Given the description of an element on the screen output the (x, y) to click on. 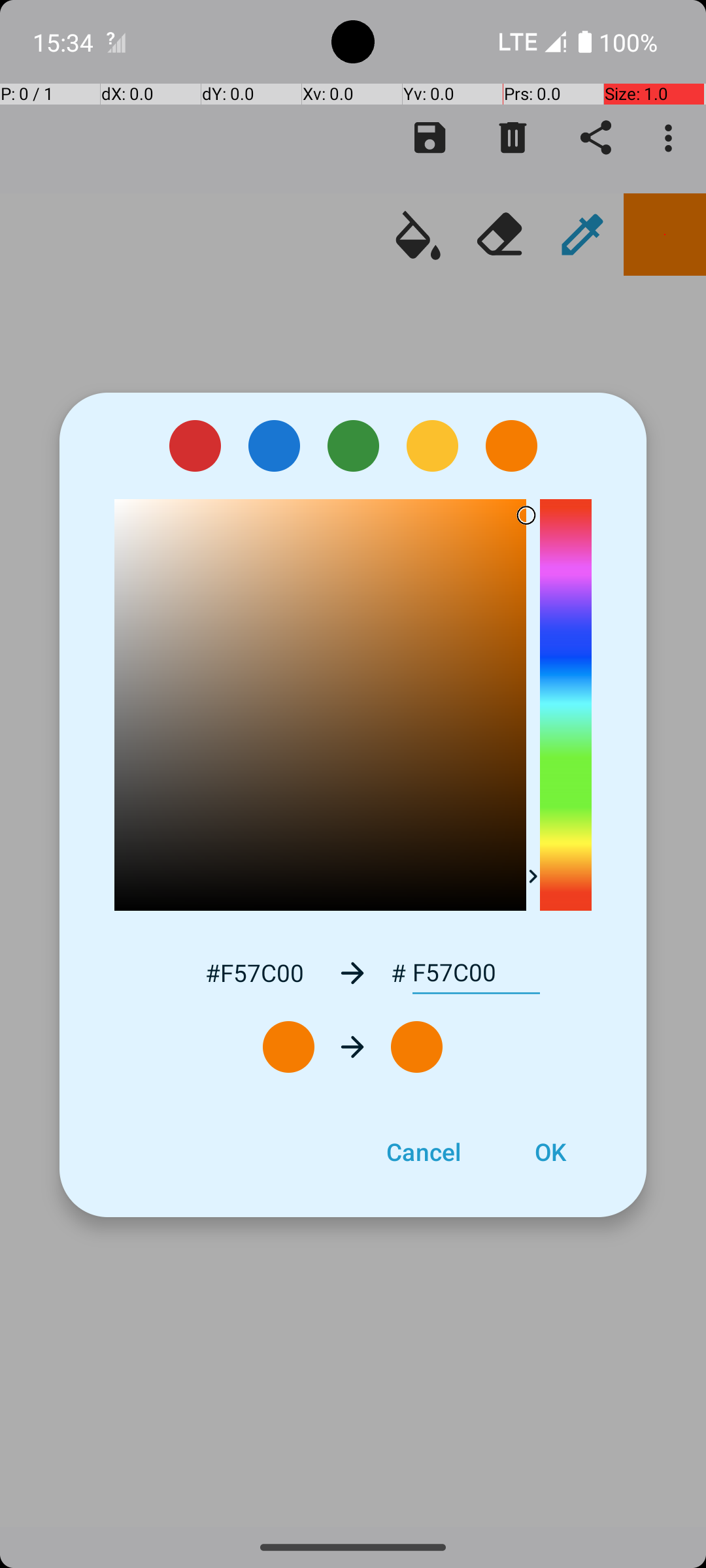
#F57C00 Element type: android.widget.TextView (254, 972)
F57C00 Element type: android.widget.EditText (475, 972)
